Given the description of an element on the screen output the (x, y) to click on. 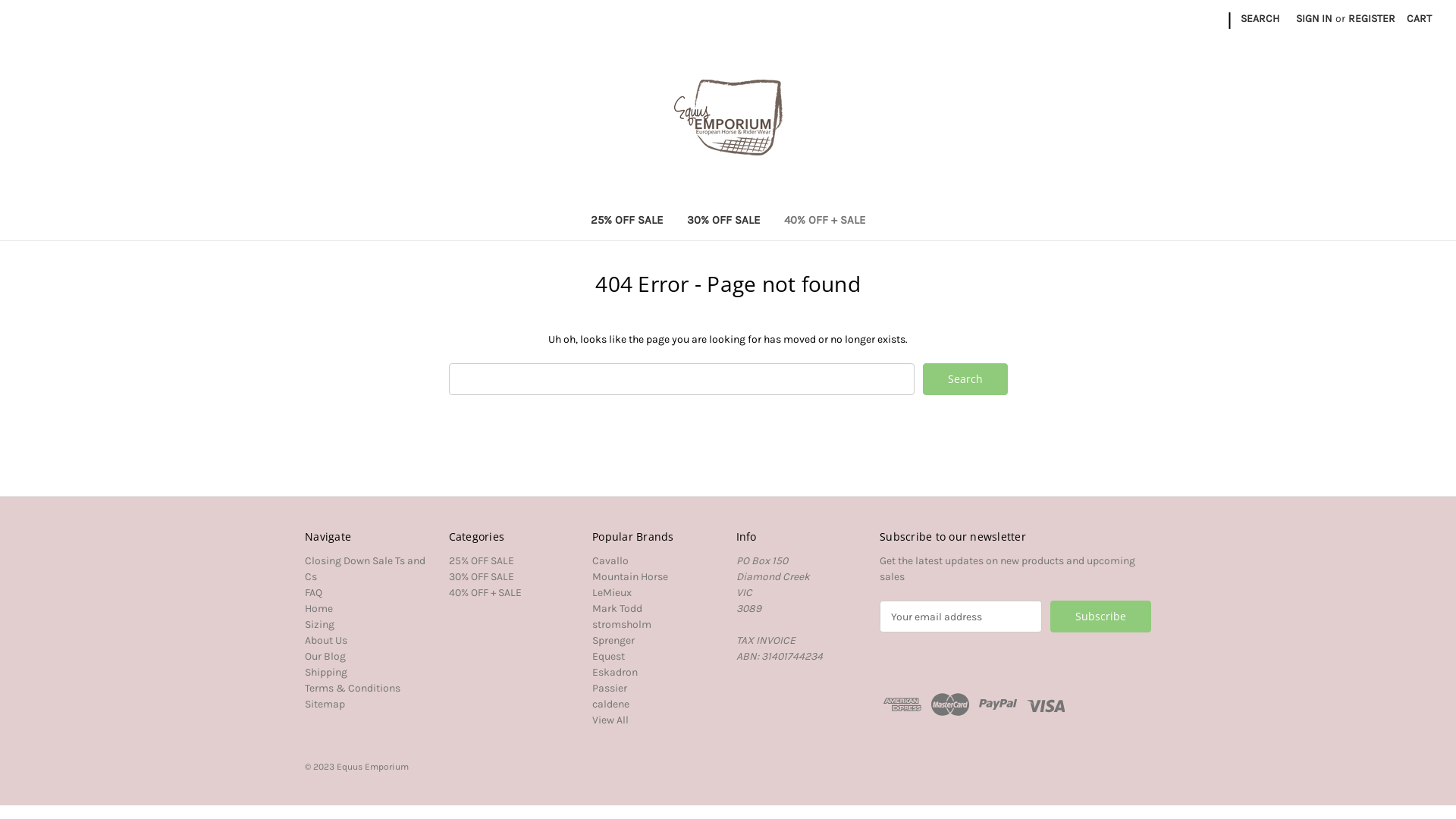
25% OFF SALE Element type: text (626, 221)
Mark Todd Element type: text (617, 608)
Sprenger Element type: text (613, 639)
REGISTER Element type: text (1371, 18)
Sizing Element type: text (319, 624)
30% OFF SALE Element type: text (481, 576)
40% OFF + SALE Element type: text (484, 592)
stromsholm Element type: text (621, 624)
View All Element type: text (610, 719)
CART Element type: text (1419, 18)
Equest Element type: text (608, 655)
SIGN IN Element type: text (1313, 18)
Home Element type: text (318, 608)
caldene Element type: text (610, 703)
Mountain Horse Element type: text (630, 576)
FAQ Element type: text (313, 592)
Closing Down Sale Ts and Cs Element type: text (364, 568)
Sitemap Element type: text (324, 703)
Shipping Element type: text (325, 671)
Search Element type: text (964, 379)
25% OFF SALE Element type: text (481, 560)
Passier Element type: text (609, 687)
LeMieux Element type: text (611, 592)
Our Blog Element type: text (324, 655)
Cavallo Element type: text (610, 560)
Equus Emporium Element type: hover (727, 117)
About Us Element type: text (325, 639)
Terms & Conditions Element type: text (352, 687)
SEARCH Element type: text (1259, 18)
Subscribe Element type: text (1100, 616)
40% OFF + SALE Element type: text (824, 221)
Eskadron Element type: text (614, 671)
30% OFF SALE Element type: text (722, 221)
